Given the description of an element on the screen output the (x, y) to click on. 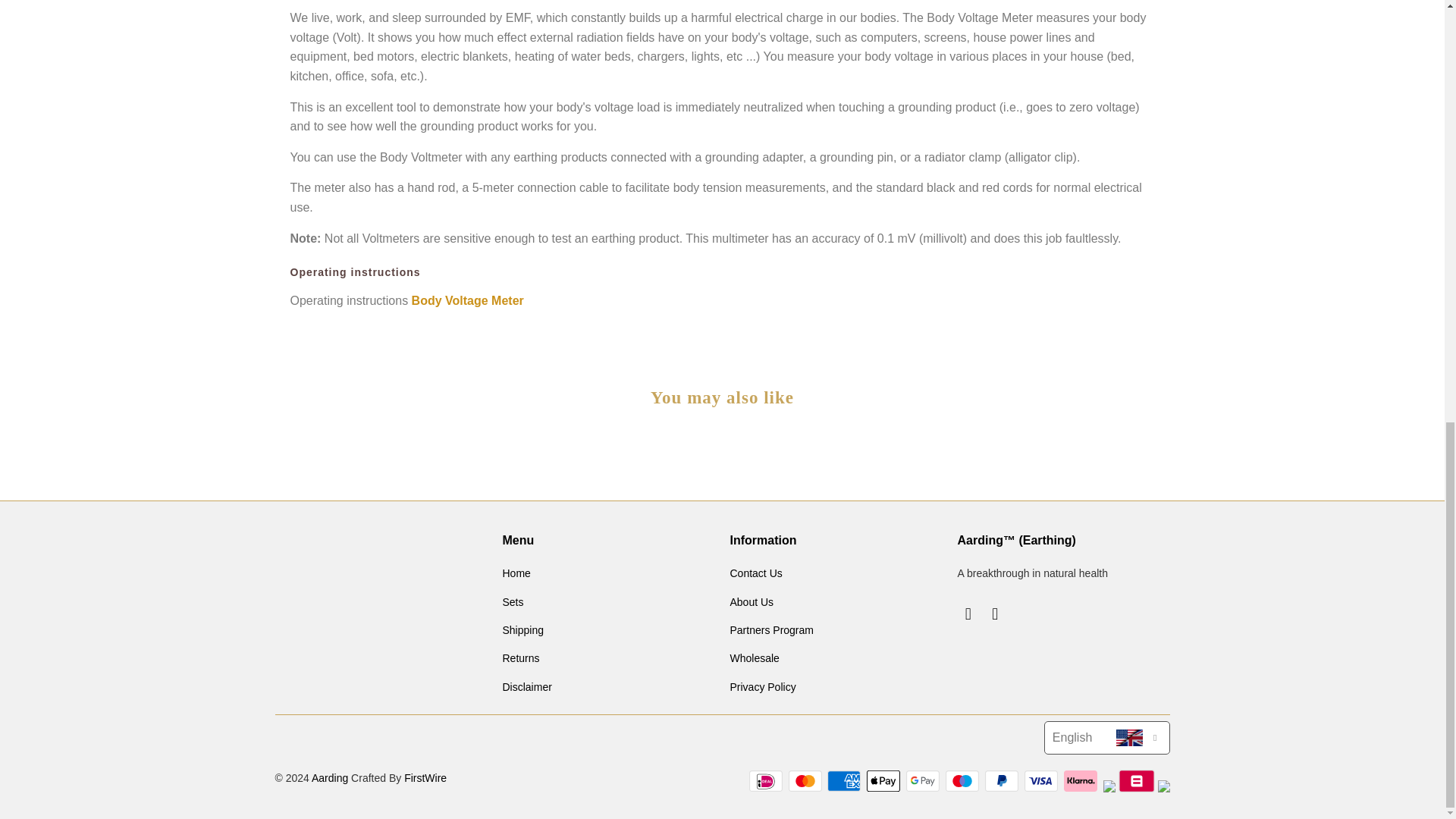
Google Pay (923, 780)
Klarna (1082, 780)
American Express (845, 780)
Maestro (962, 780)
Visa (1043, 780)
Belfius (1136, 780)
Earthing Body Voltage Meter - Voltmeter (468, 300)
iDEAL (767, 780)
PayPal (1003, 780)
Apple Pay (884, 780)
